Given the description of an element on the screen output the (x, y) to click on. 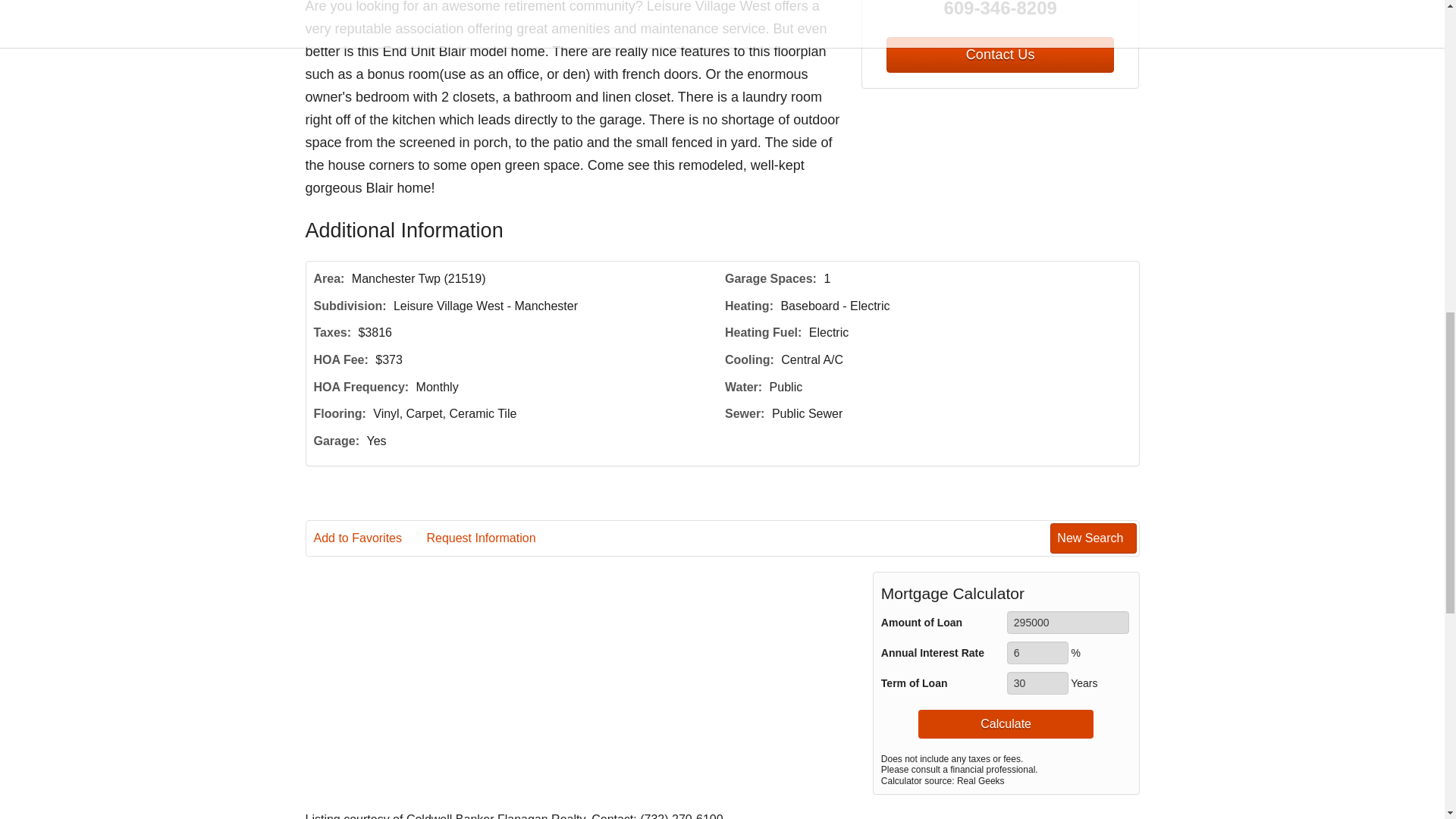
Contact Us (999, 54)
295000 (1068, 621)
609-346-8209 (1000, 11)
6 (1037, 652)
30 (1037, 682)
